Given the description of an element on the screen output the (x, y) to click on. 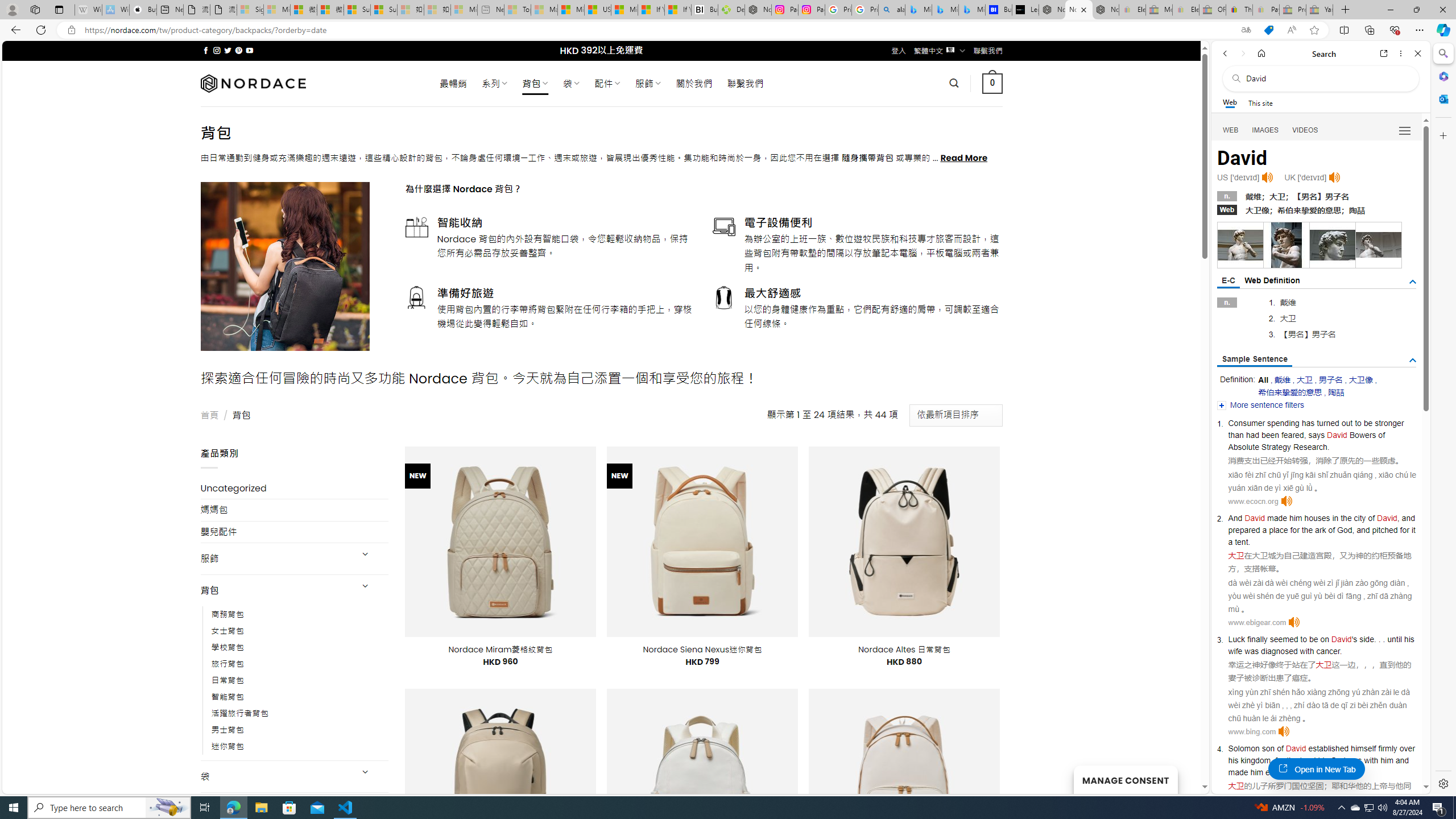
tent (1240, 541)
finally (1257, 638)
's (1353, 638)
